Given the description of an element on the screen output the (x, y) to click on. 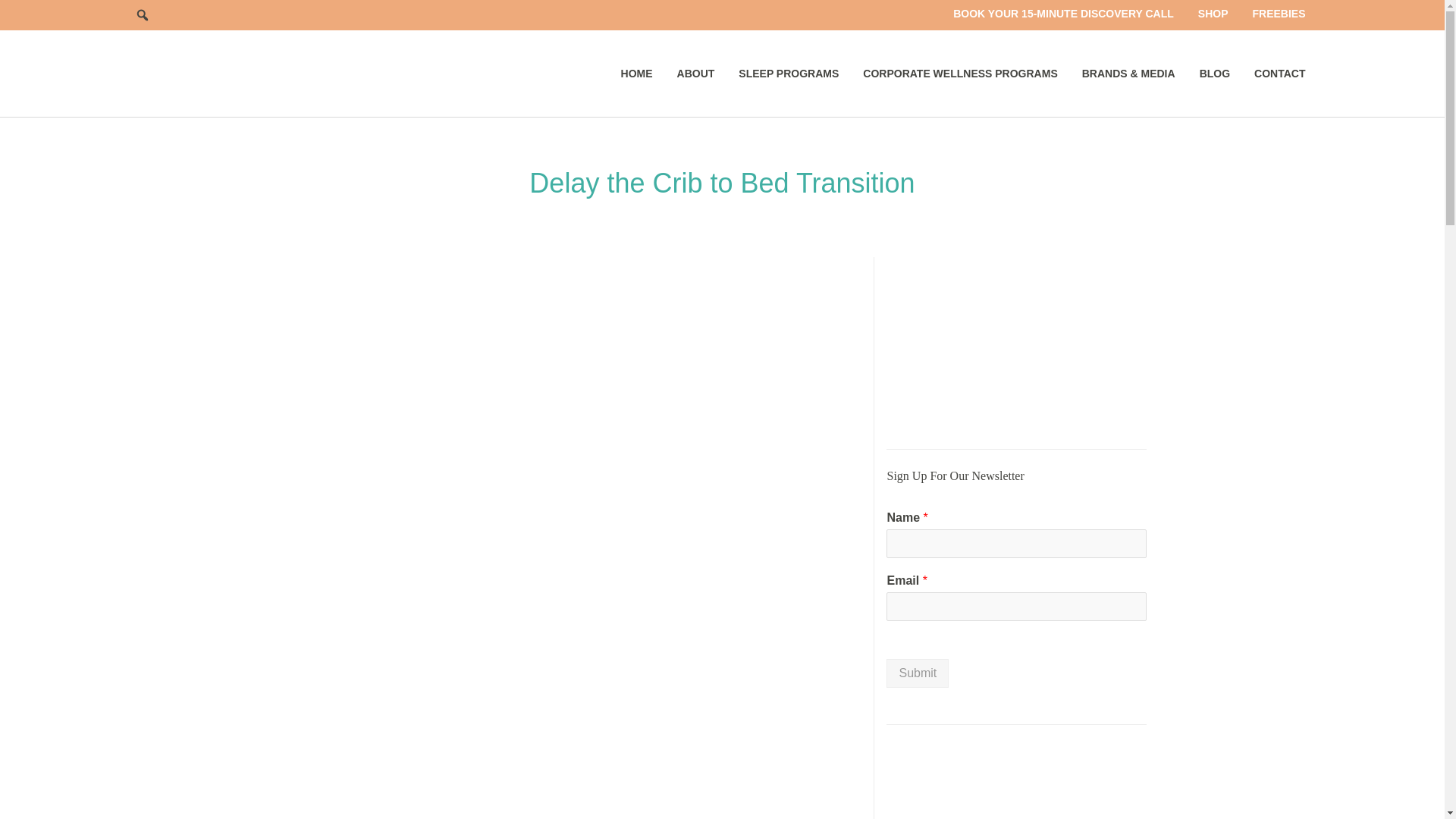
HOME (636, 72)
Search (142, 15)
SHOP (1213, 13)
FREEBIES (1278, 13)
BOOK YOUR 15-MINUTE DISCOVERY CALL (1063, 13)
SLEEP PROGRAMS (788, 72)
ABOUT (695, 72)
